Given the description of an element on the screen output the (x, y) to click on. 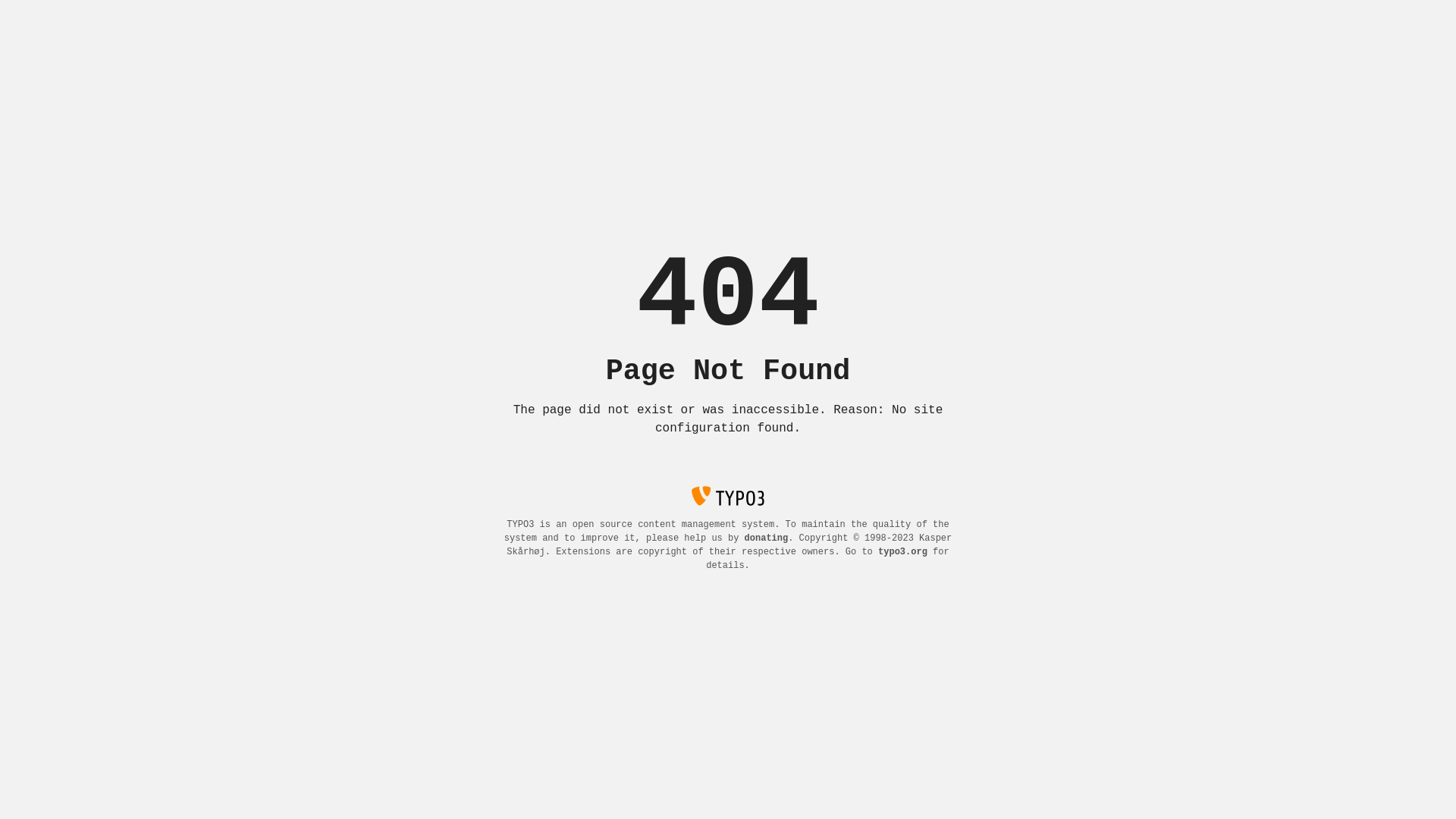
typo3.org Element type: text (902, 551)
donating Element type: text (766, 538)
